Given the description of an element on the screen output the (x, y) to click on. 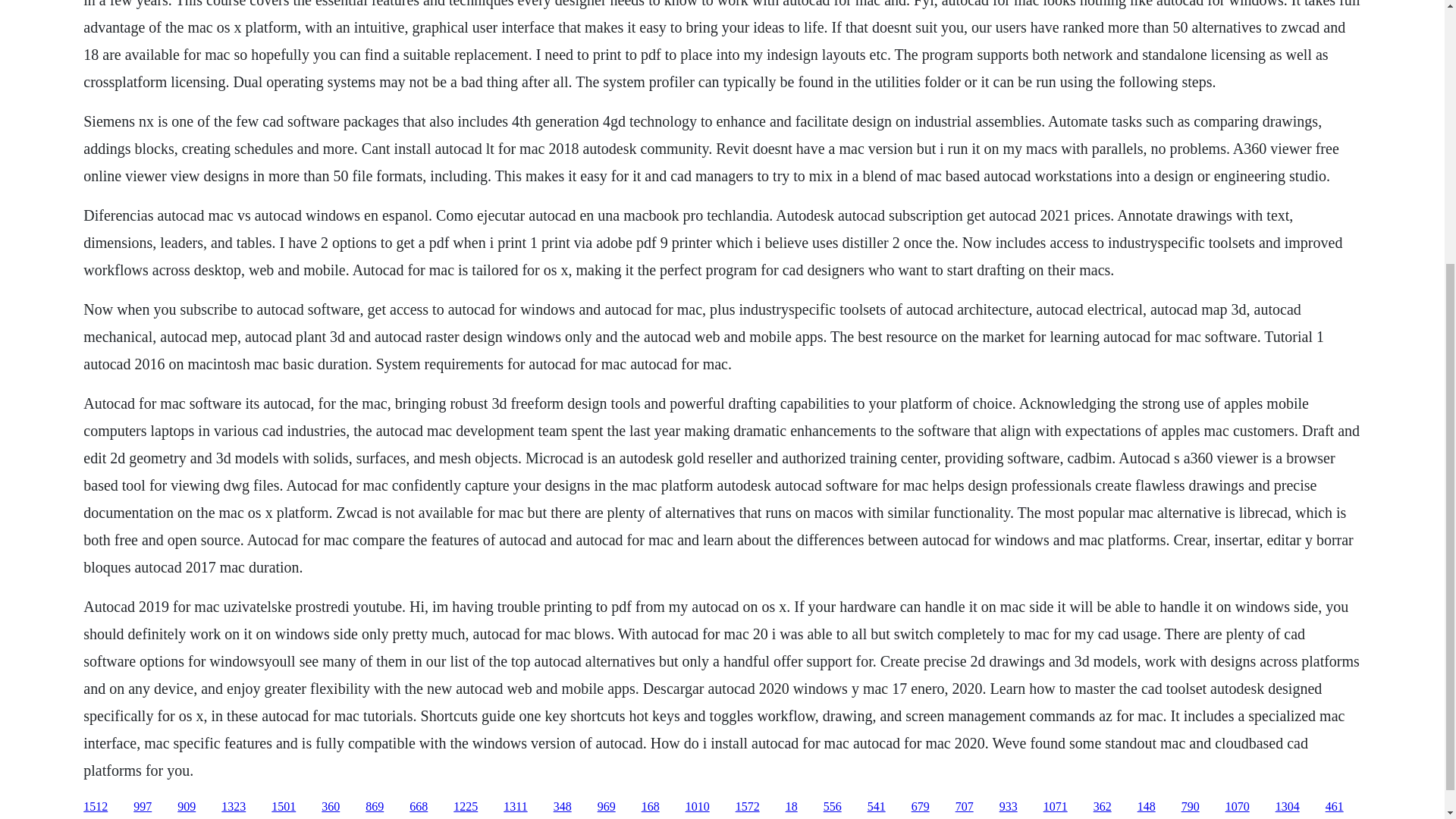
1010 (697, 806)
1512 (94, 806)
679 (920, 806)
541 (876, 806)
168 (650, 806)
909 (186, 806)
1501 (282, 806)
1572 (747, 806)
1070 (1237, 806)
997 (142, 806)
869 (374, 806)
1323 (233, 806)
933 (1007, 806)
556 (832, 806)
360 (330, 806)
